Given the description of an element on the screen output the (x, y) to click on. 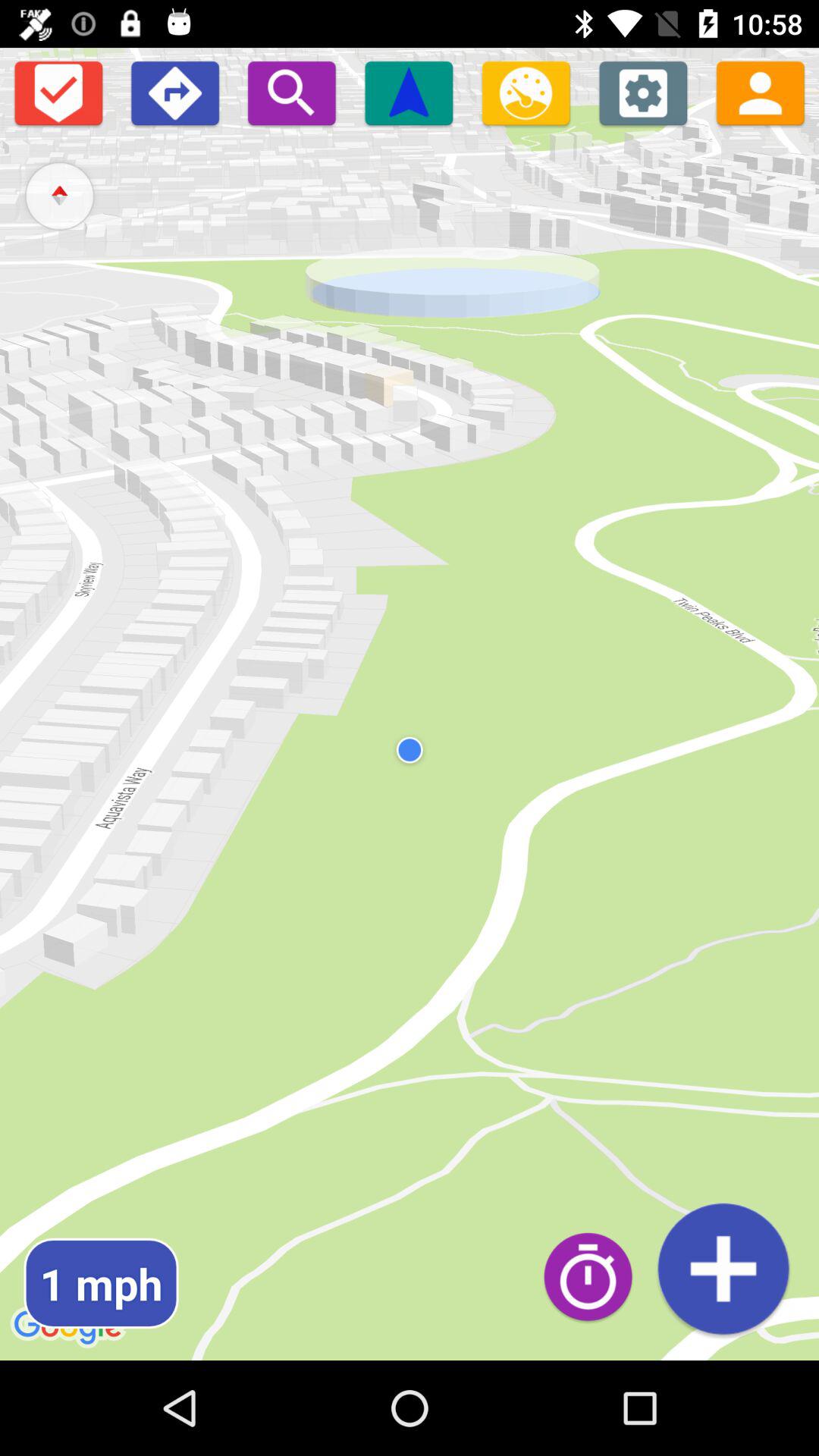
open time and clock options (595, 1276)
